Given the description of an element on the screen output the (x, y) to click on. 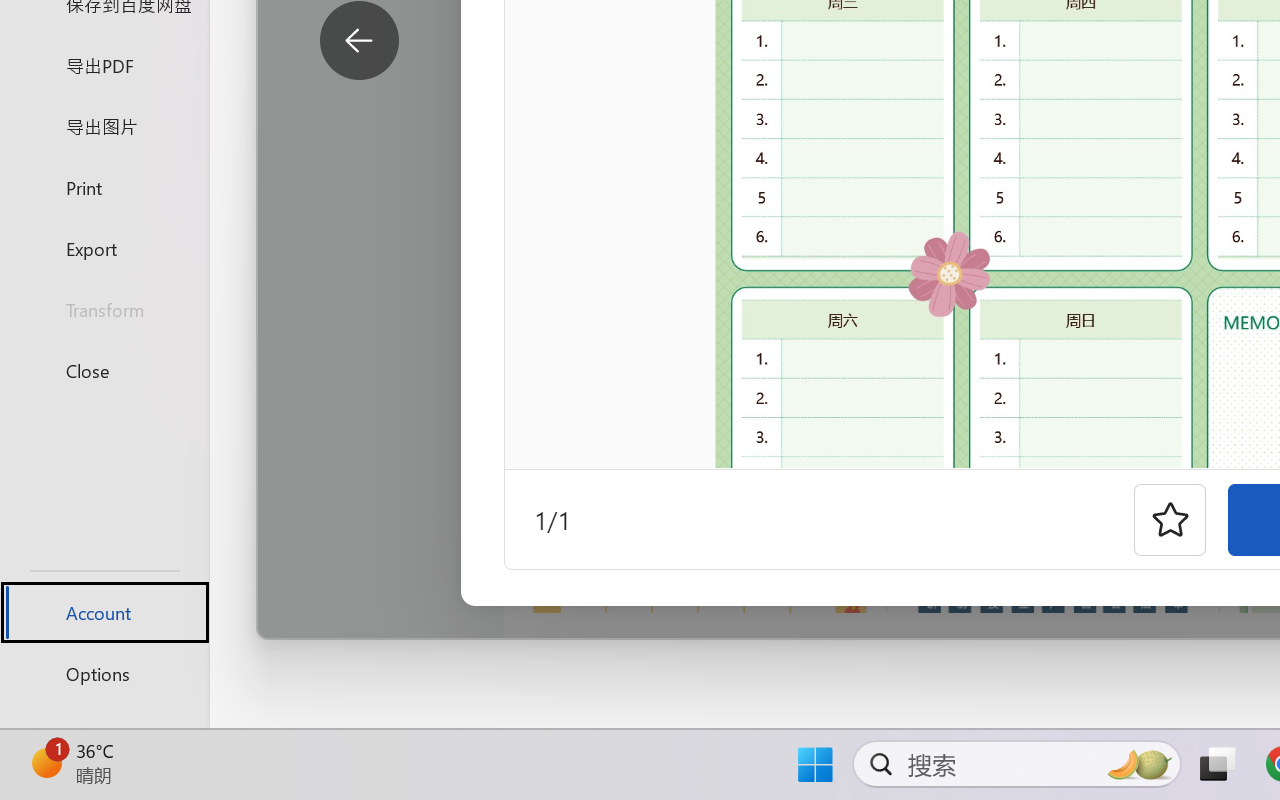
Export (104, 248)
Print (104, 186)
Account (104, 612)
Transform (104, 309)
Options (104, 673)
